Given the description of an element on the screen output the (x, y) to click on. 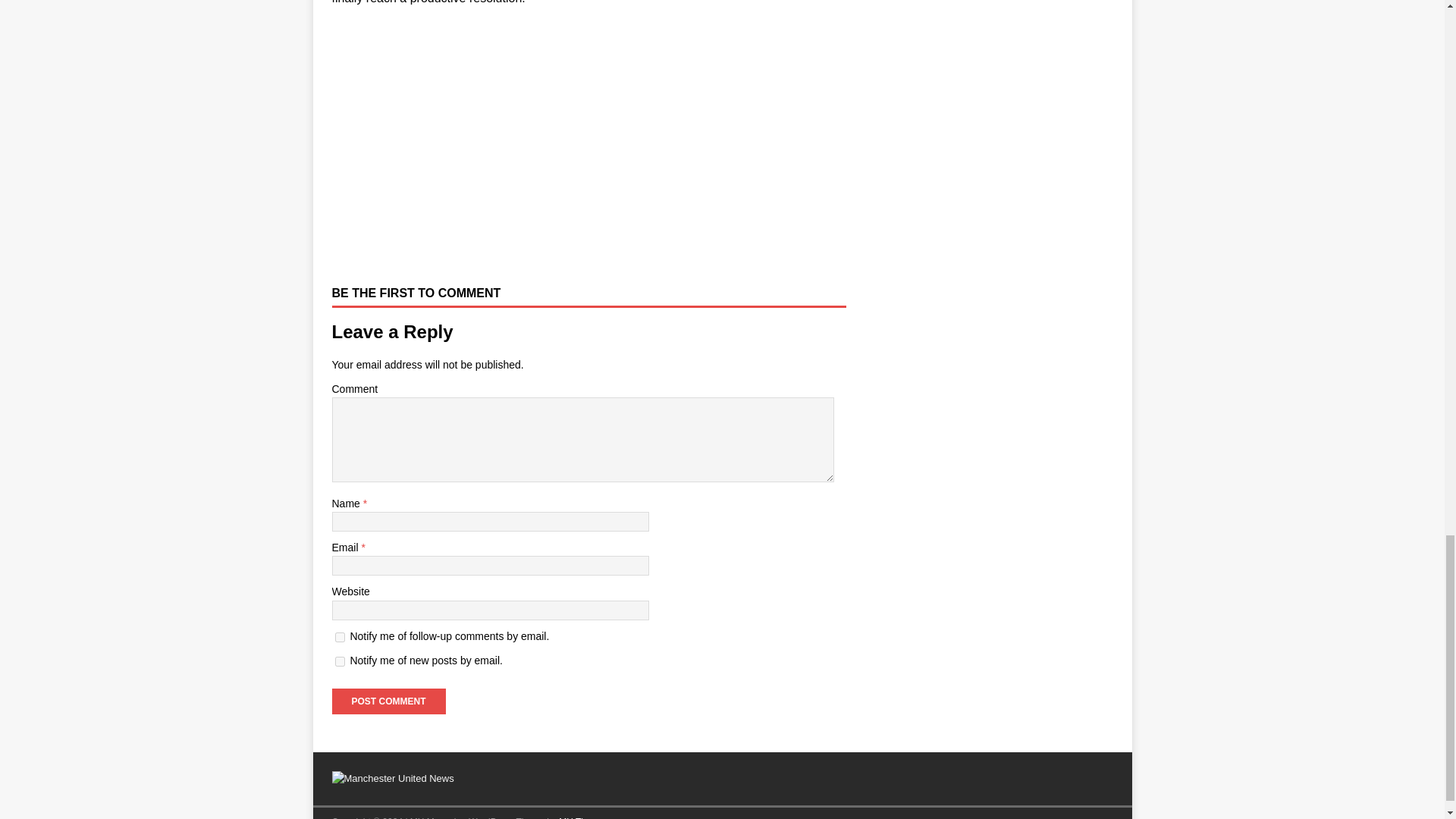
subscribe (339, 661)
Post Comment (388, 701)
Manchester United News (392, 778)
Post Comment (388, 701)
subscribe (339, 637)
